Given the description of an element on the screen output the (x, y) to click on. 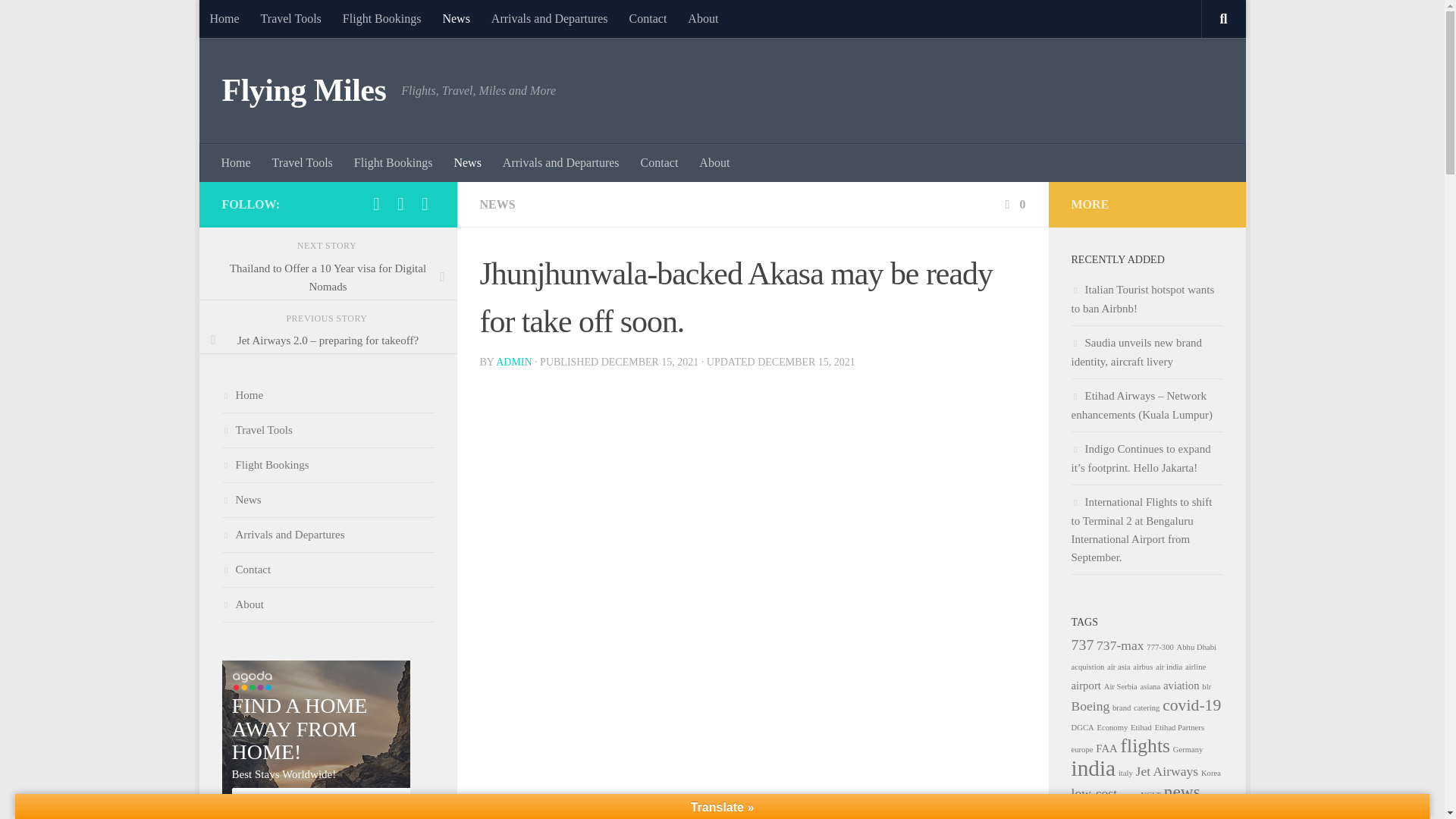
Skip to content (258, 20)
0 (1013, 204)
Posts by admin (513, 361)
Contact (648, 18)
NEWS (497, 204)
Home (223, 18)
Travel Tools (302, 162)
Flight Bookings (381, 18)
ADMIN (513, 361)
About (703, 18)
